Given the description of an element on the screen output the (x, y) to click on. 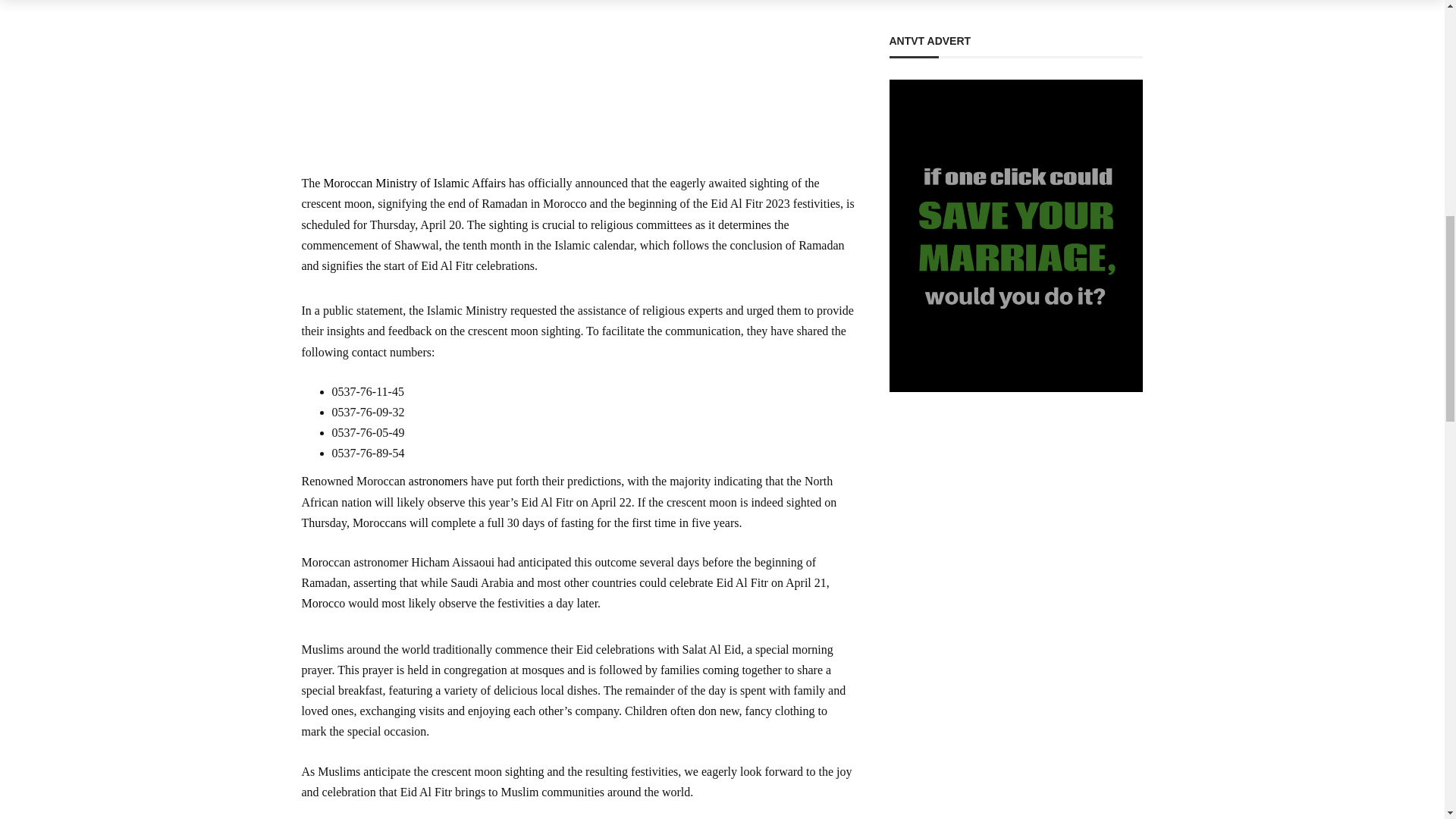
Advertisement (578, 83)
